Given the description of an element on the screen output the (x, y) to click on. 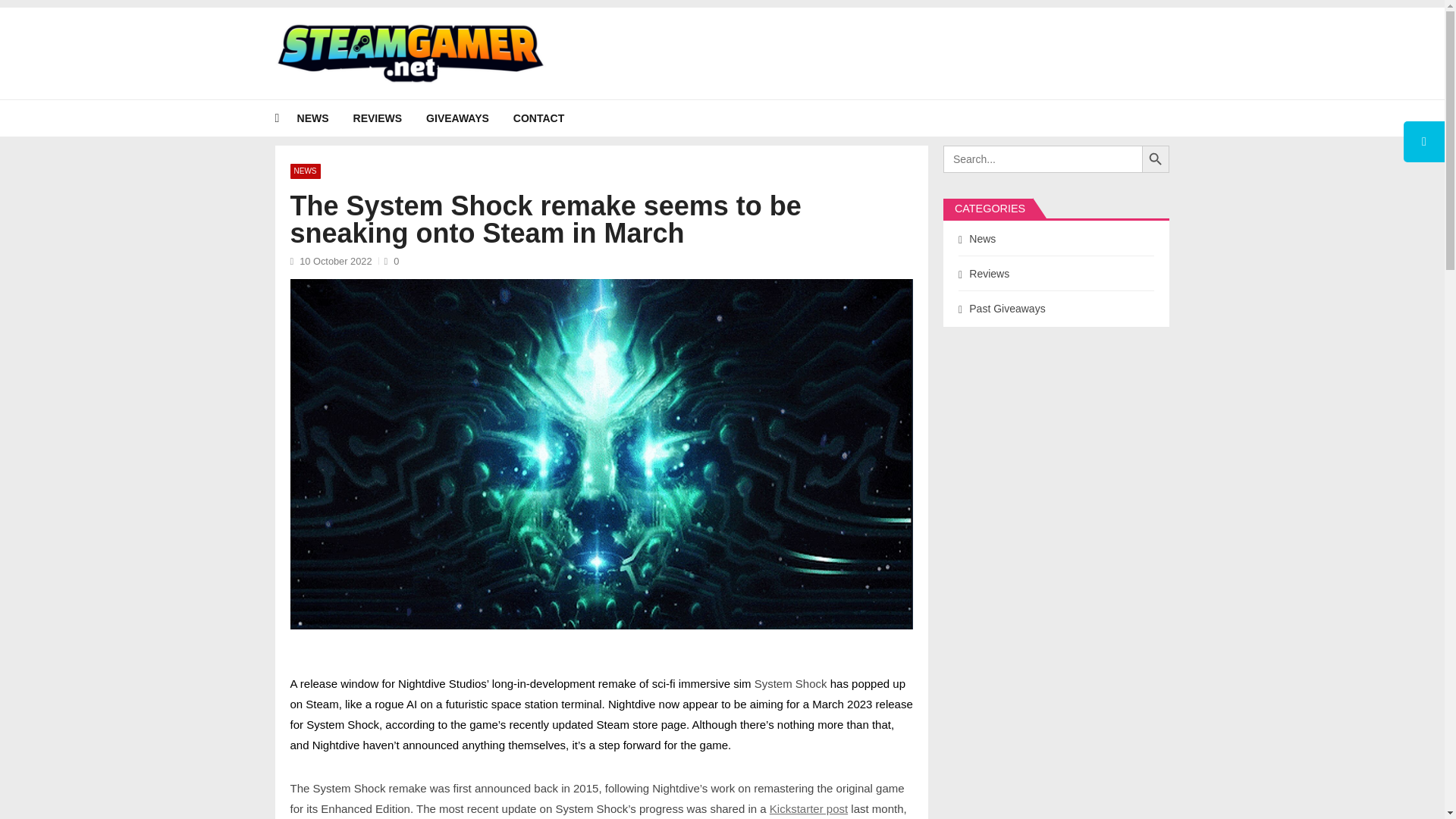
Steam Gamer (326, 92)
News (325, 117)
CONTACT (550, 117)
GIVEAWAYS (469, 117)
Kickstarter post (808, 808)
NEWS (325, 117)
REVIEWS (389, 117)
NEWS (304, 171)
